Given the description of an element on the screen output the (x, y) to click on. 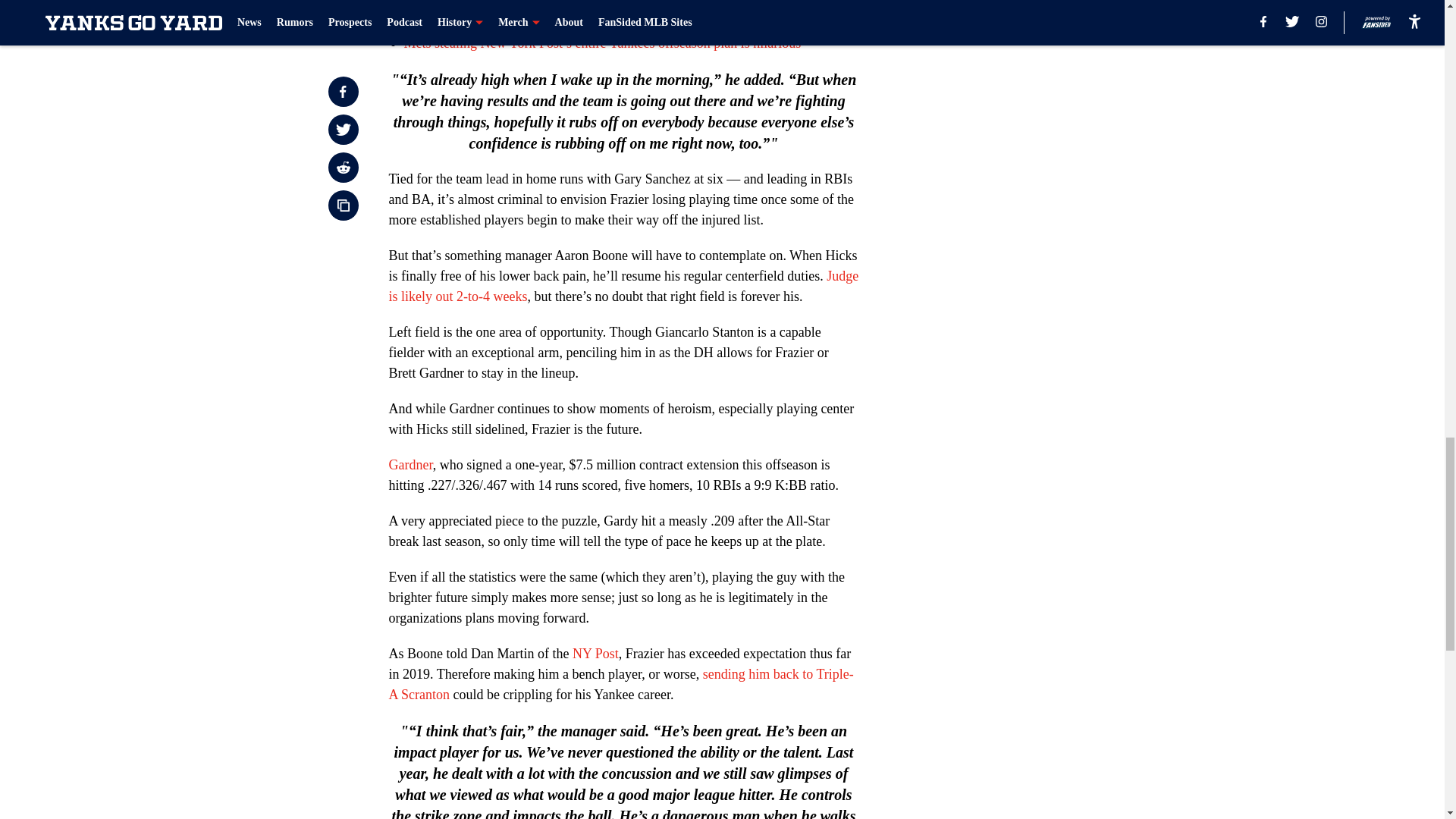
sending him back to Triple-A Scranton (620, 683)
Judge is likely out 2-to-4 weeks (623, 285)
Gardner (410, 464)
NY Post (595, 653)
